Given the description of an element on the screen output the (x, y) to click on. 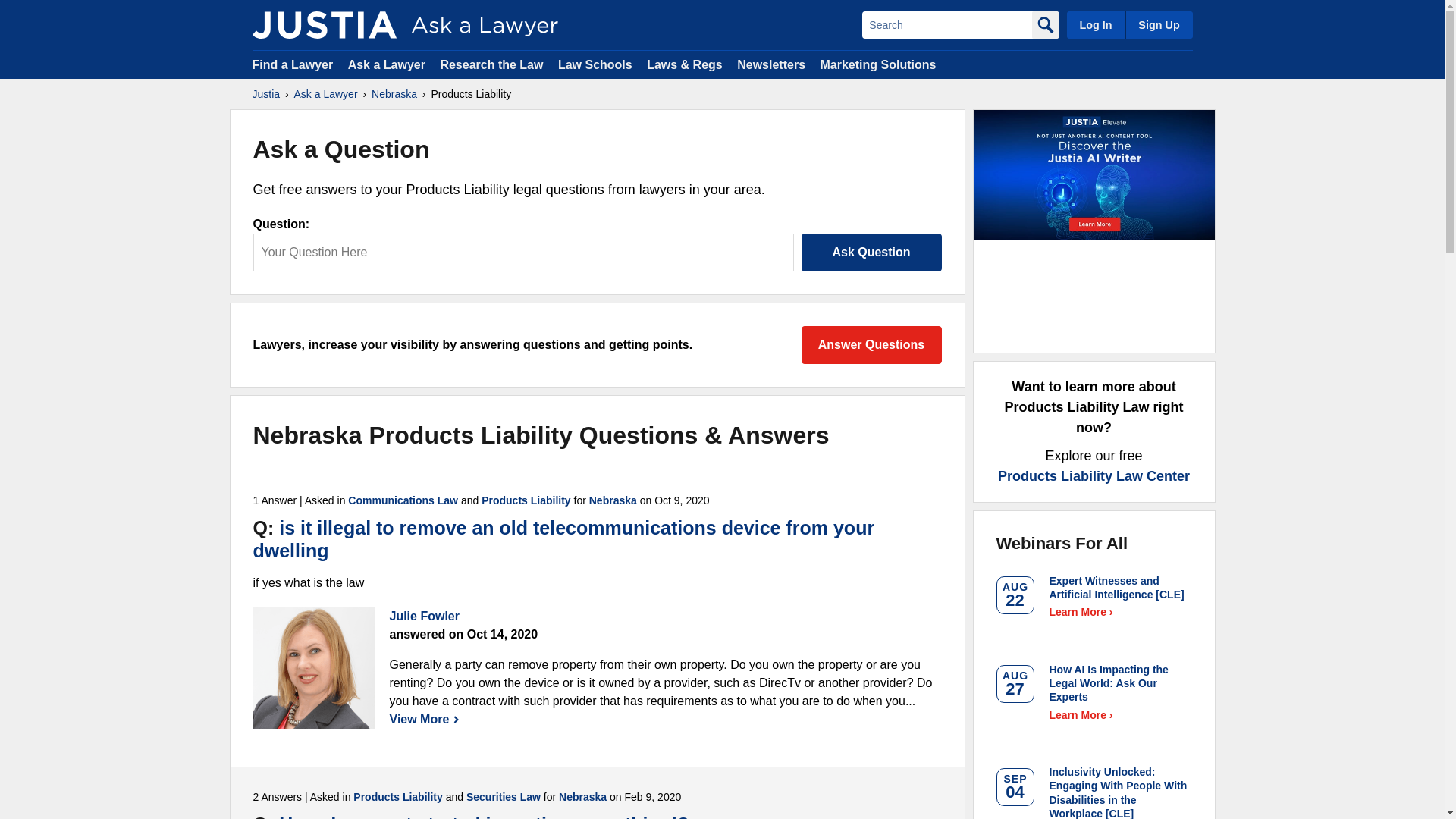
Marketing Solutions (877, 64)
View More (425, 718)
Justia (265, 93)
Nebraska (393, 93)
Communications Law (402, 500)
Products Liability (525, 500)
Products Liability (397, 797)
Ask Question (870, 252)
Research the Law (491, 64)
